Given the description of an element on the screen output the (x, y) to click on. 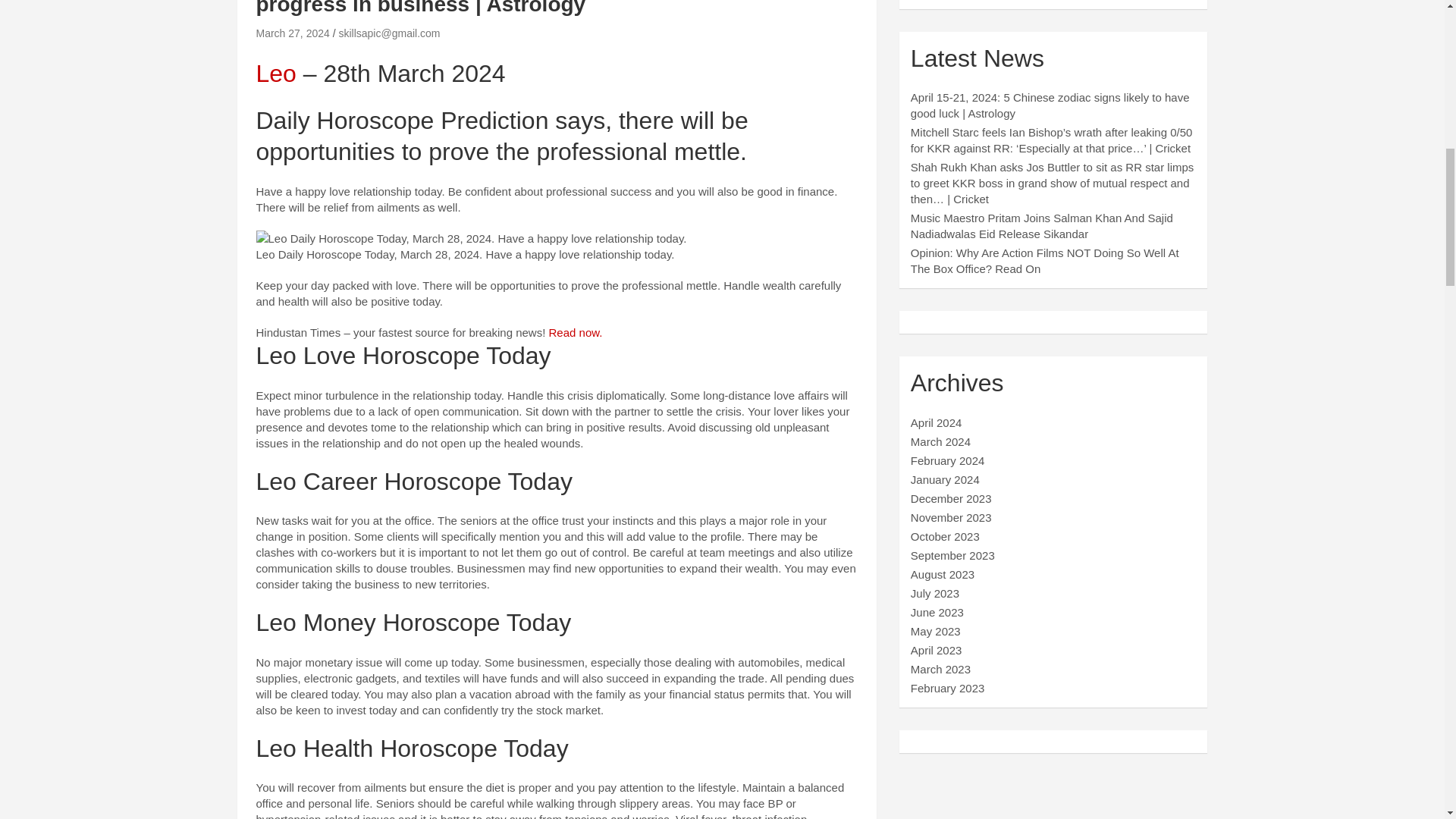
Read now. (575, 332)
Leo (276, 72)
March 27, 2024 (293, 33)
